Given the description of an element on the screen output the (x, y) to click on. 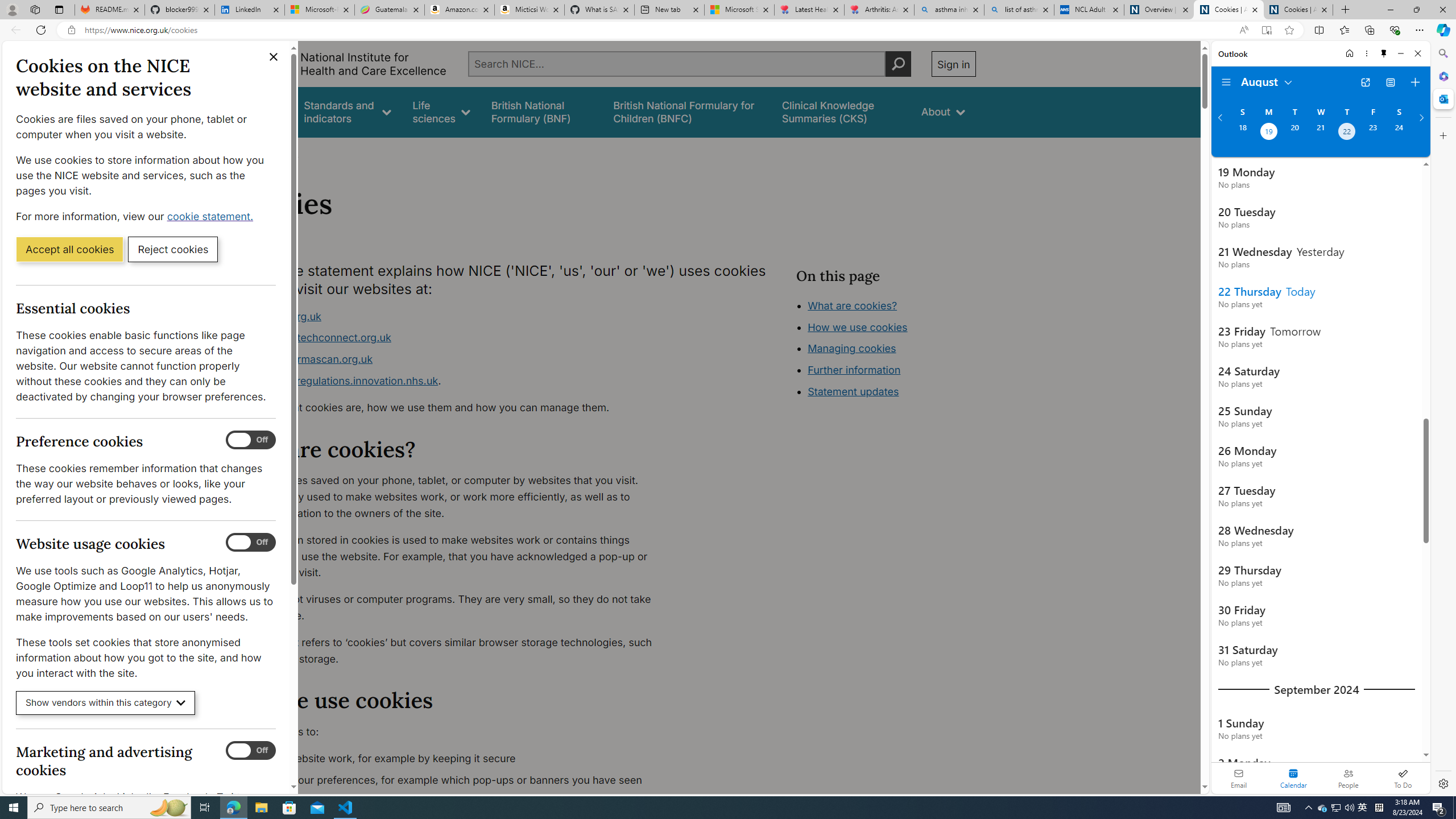
Managing cookies (852, 348)
